Given the description of an element on the screen output the (x, y) to click on. 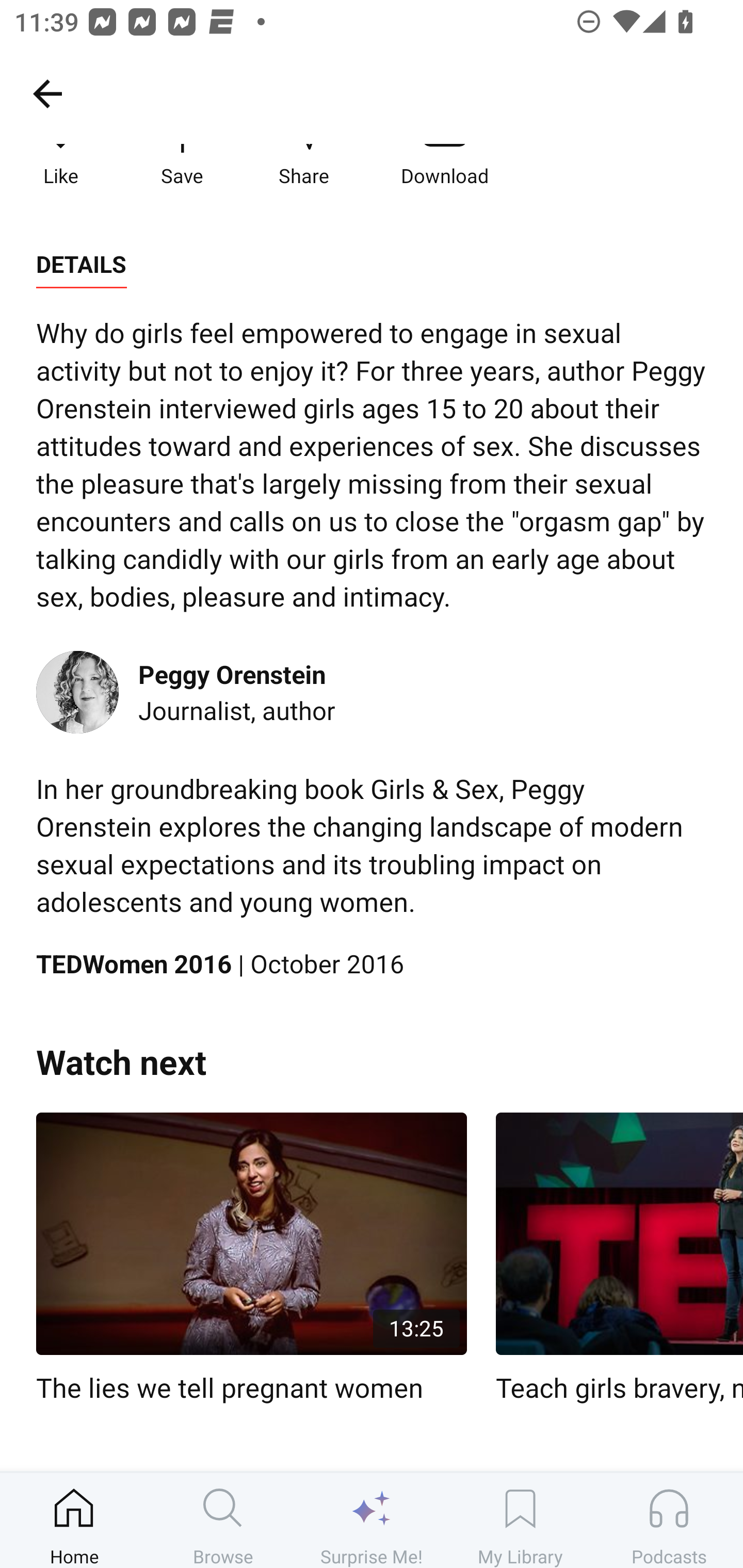
Go back (47, 92)
Like (60, 166)
Save (181, 166)
Share (302, 166)
Download (444, 166)
DETAILS (80, 264)
13:25 The lies we tell pregnant women (251, 1258)
Teach girls bravery, not perfection (619, 1258)
Home (74, 1520)
Browse (222, 1520)
Surprise Me! (371, 1520)
My Library (519, 1520)
Podcasts (668, 1520)
